Given the description of an element on the screen output the (x, y) to click on. 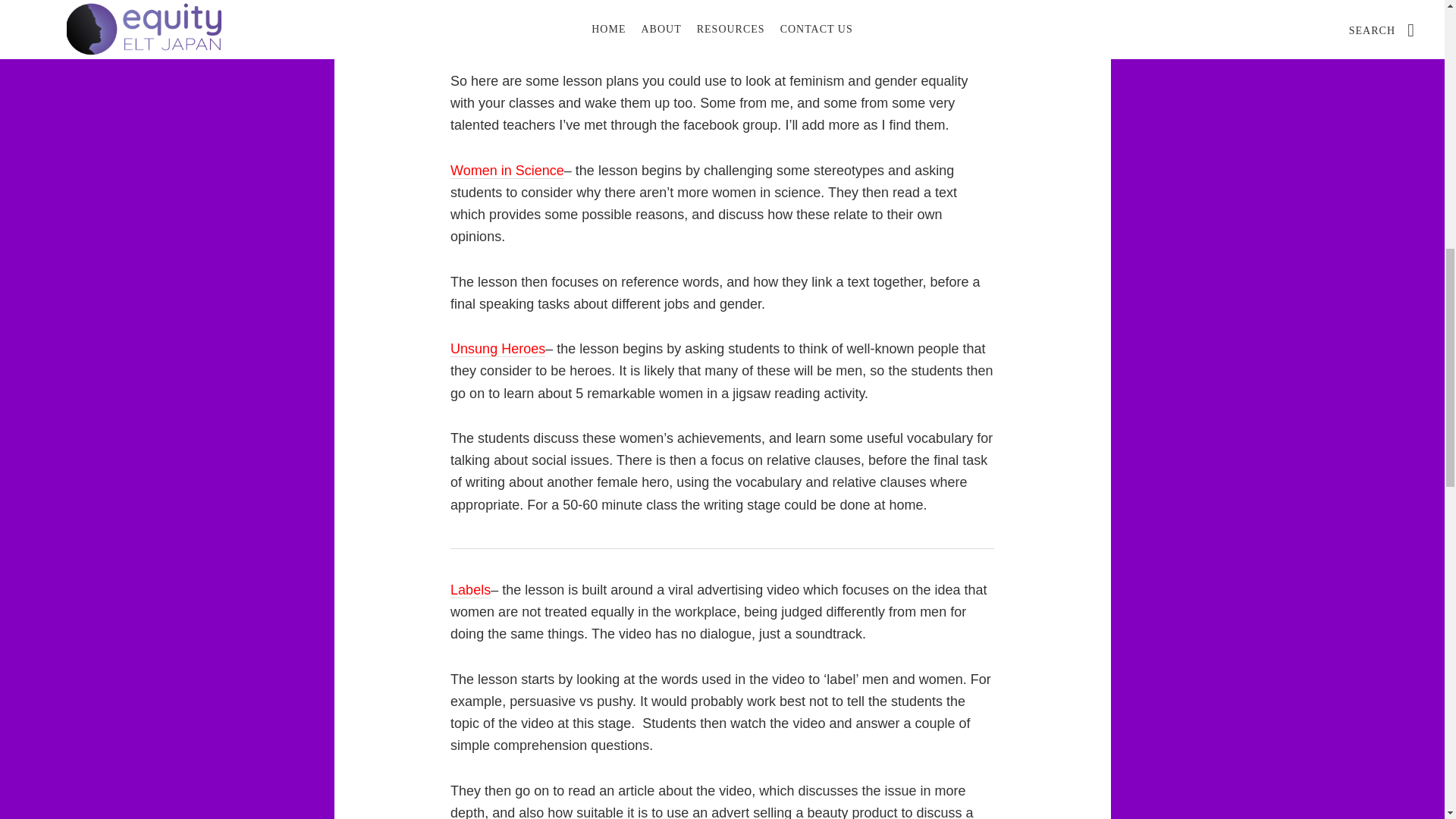
Unsung Heroes (496, 349)
Labels (469, 590)
Women in Science (506, 170)
